Given the description of an element on the screen output the (x, y) to click on. 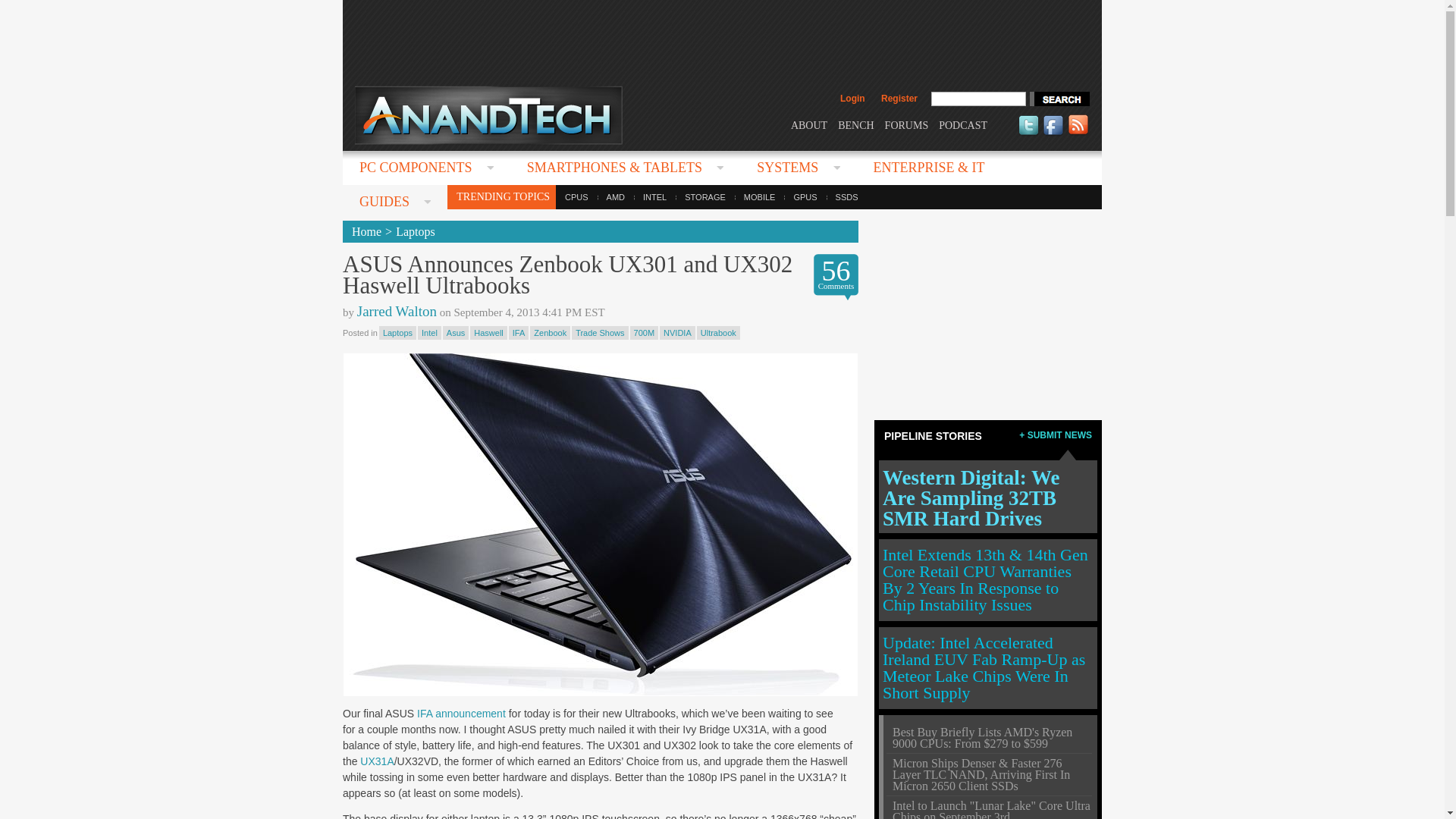
FORUMS (906, 125)
PODCAST (963, 125)
search (1059, 98)
BENCH (855, 125)
Register (898, 98)
search (1059, 98)
Login (852, 98)
search (1059, 98)
ABOUT (808, 125)
